Given the description of an element on the screen output the (x, y) to click on. 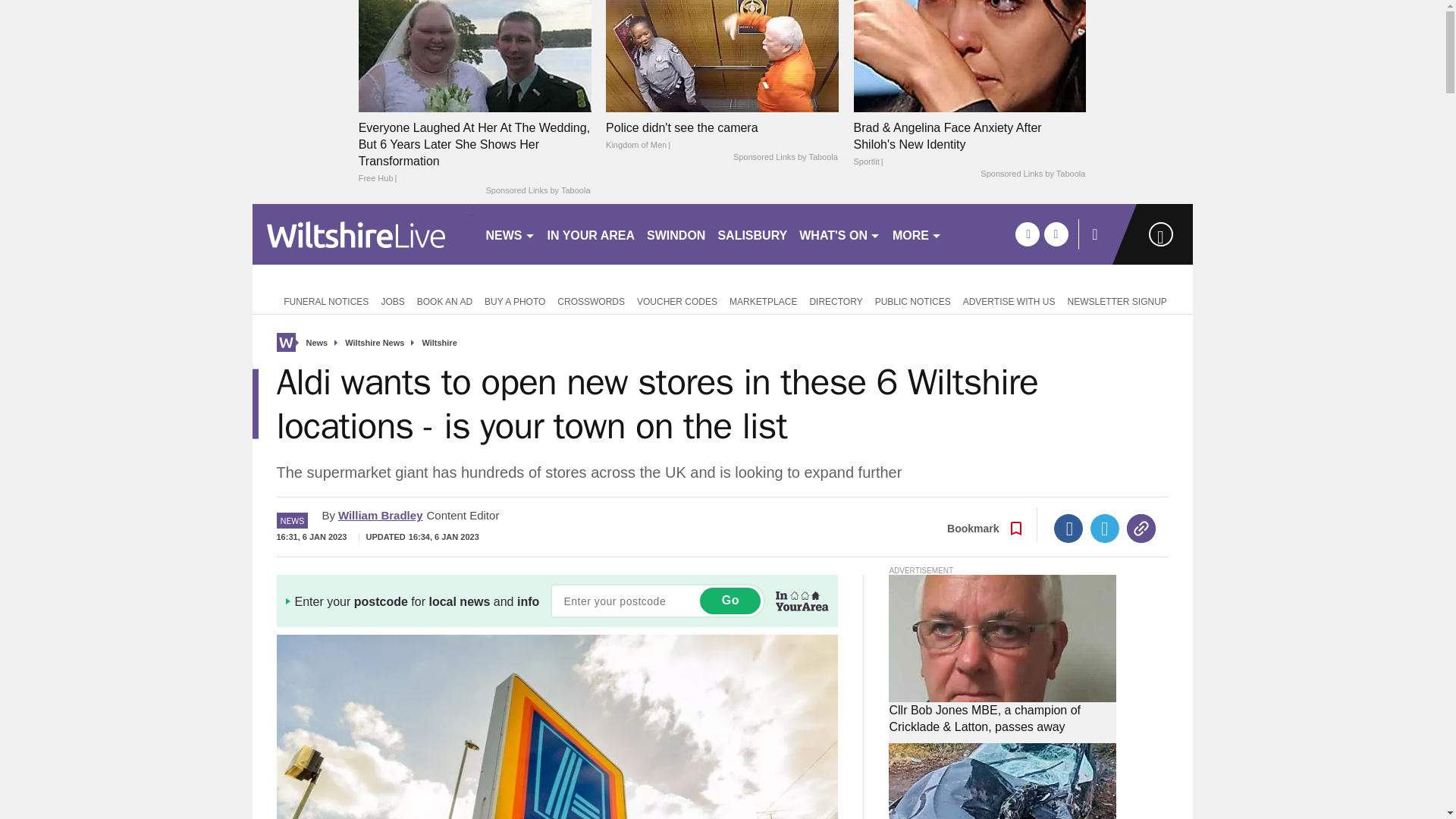
Sponsored Links by Taboola (785, 157)
MORE (916, 233)
Sponsored Links by Taboola (1031, 174)
Go (730, 601)
Police didn't see the camera (721, 55)
WHAT'S ON (839, 233)
facebook (1026, 233)
SWINDON (675, 233)
SALISBURY (752, 233)
twitter (1055, 233)
Facebook (1068, 528)
IN YOUR AREA (591, 233)
Twitter (1104, 528)
